Given the description of an element on the screen output the (x, y) to click on. 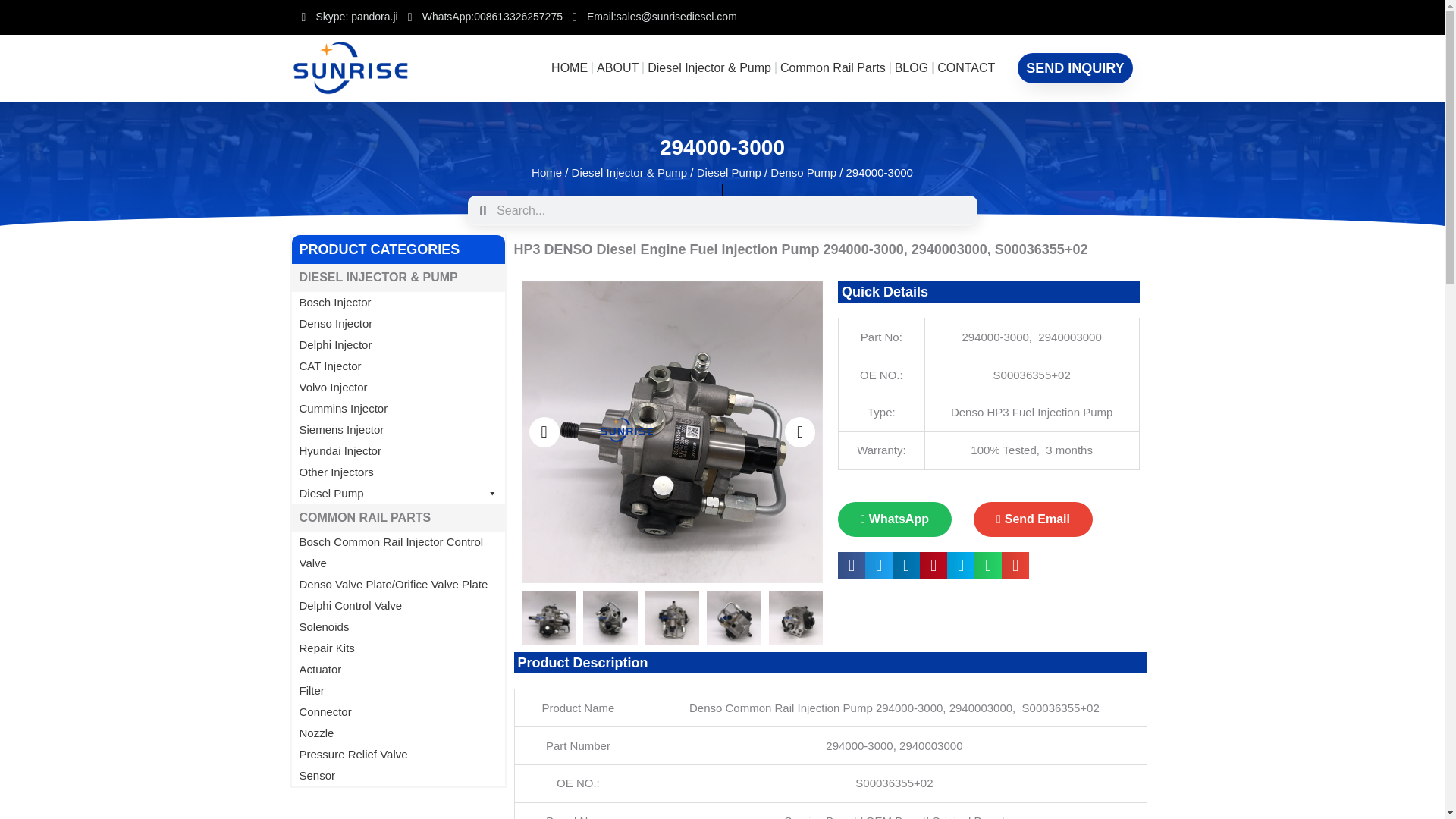
BLOG (911, 67)
CONTACT (965, 67)
ABOUT (617, 67)
HOME (569, 67)
Common Rail Parts (832, 67)
